Given the description of an element on the screen output the (x, y) to click on. 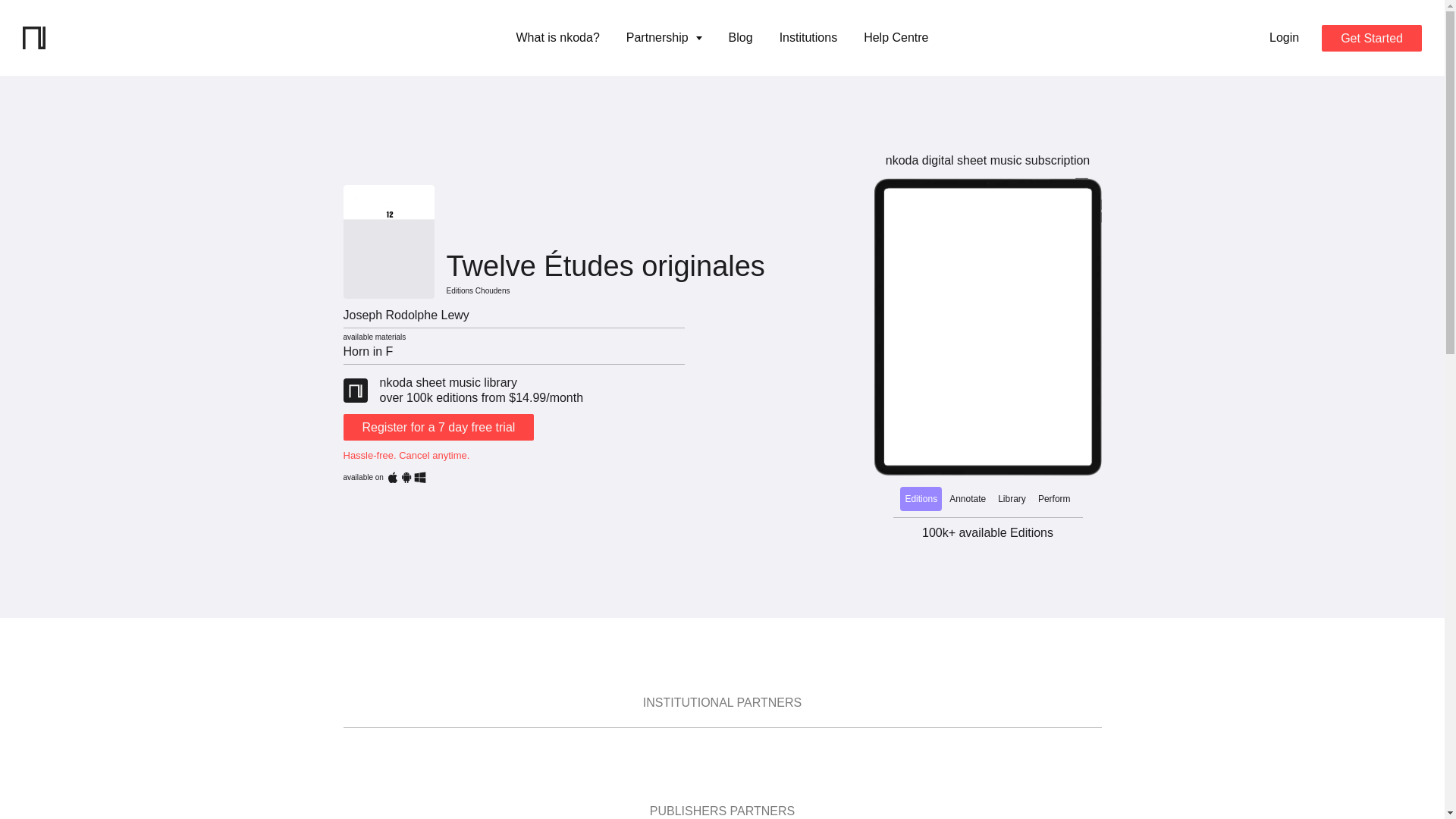
Editions Choudens (477, 288)
Joseph Rodolphe Lewy (405, 314)
Get Started (1372, 37)
Institutions (807, 37)
Register for a 7 day free trial (438, 427)
Help Centre (895, 37)
Partnership (663, 37)
Login (1283, 37)
Blog (740, 37)
What is nkoda? (556, 37)
